Given the description of an element on the screen output the (x, y) to click on. 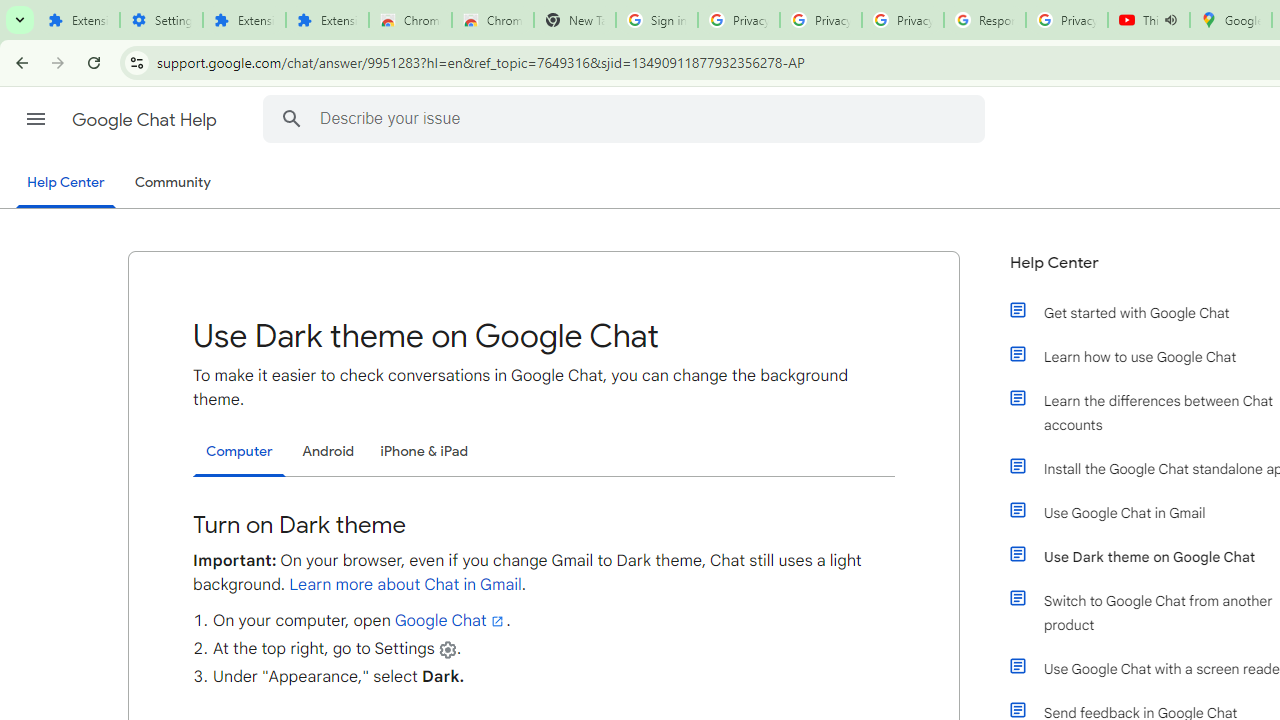
New Tab (574, 20)
Sign in - Google Accounts (656, 20)
Extensions (244, 20)
Main menu (35, 119)
Mute tab (1170, 20)
Google Chat (450, 620)
Learn more about Chat in Gmail (405, 584)
